Given the description of an element on the screen output the (x, y) to click on. 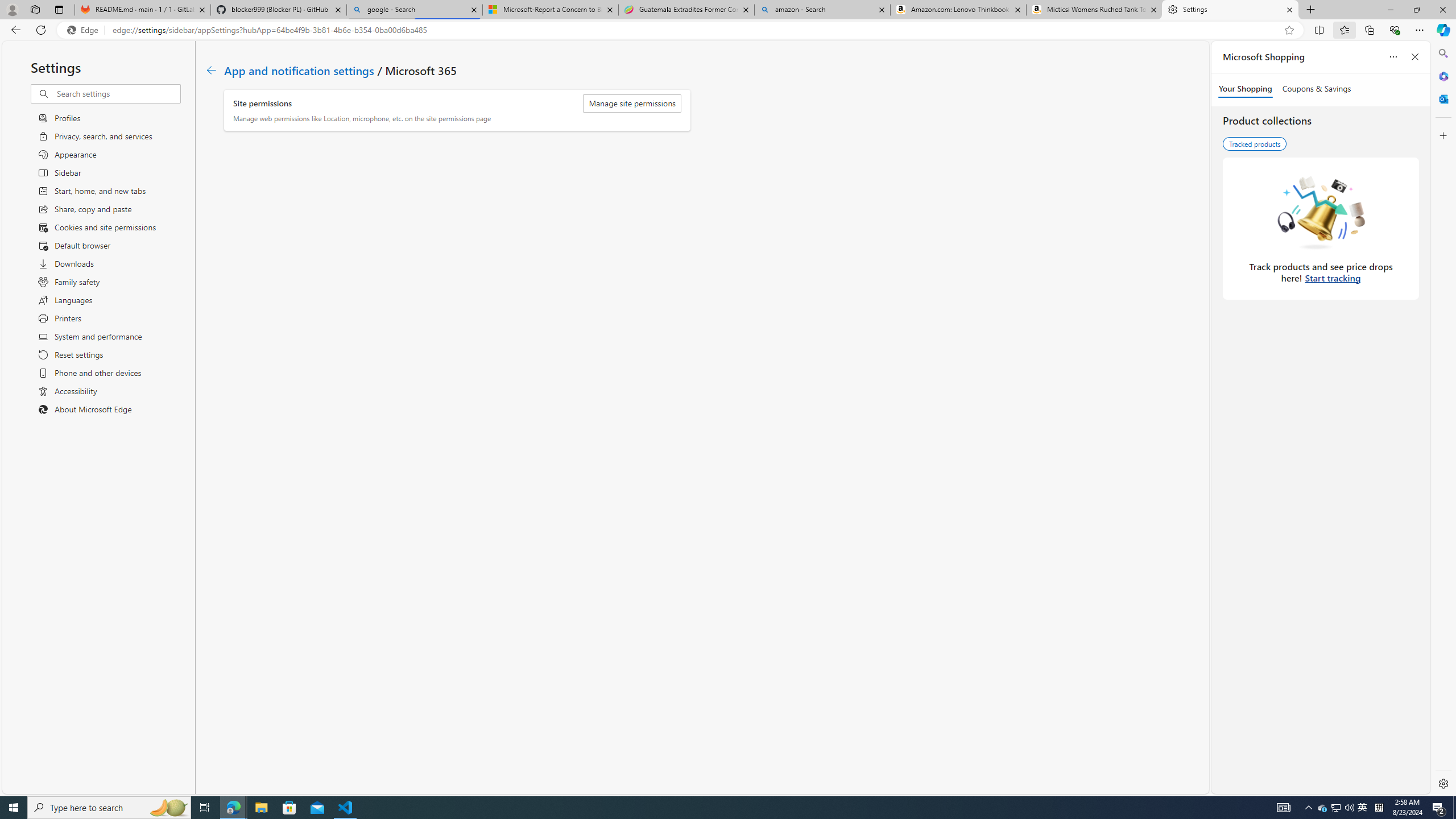
Microsoft-Report a Concern to Bing (550, 9)
Manage site permissions (631, 103)
App and notification settings (299, 69)
Class: c01182 (210, 70)
